Given the description of an element on the screen output the (x, y) to click on. 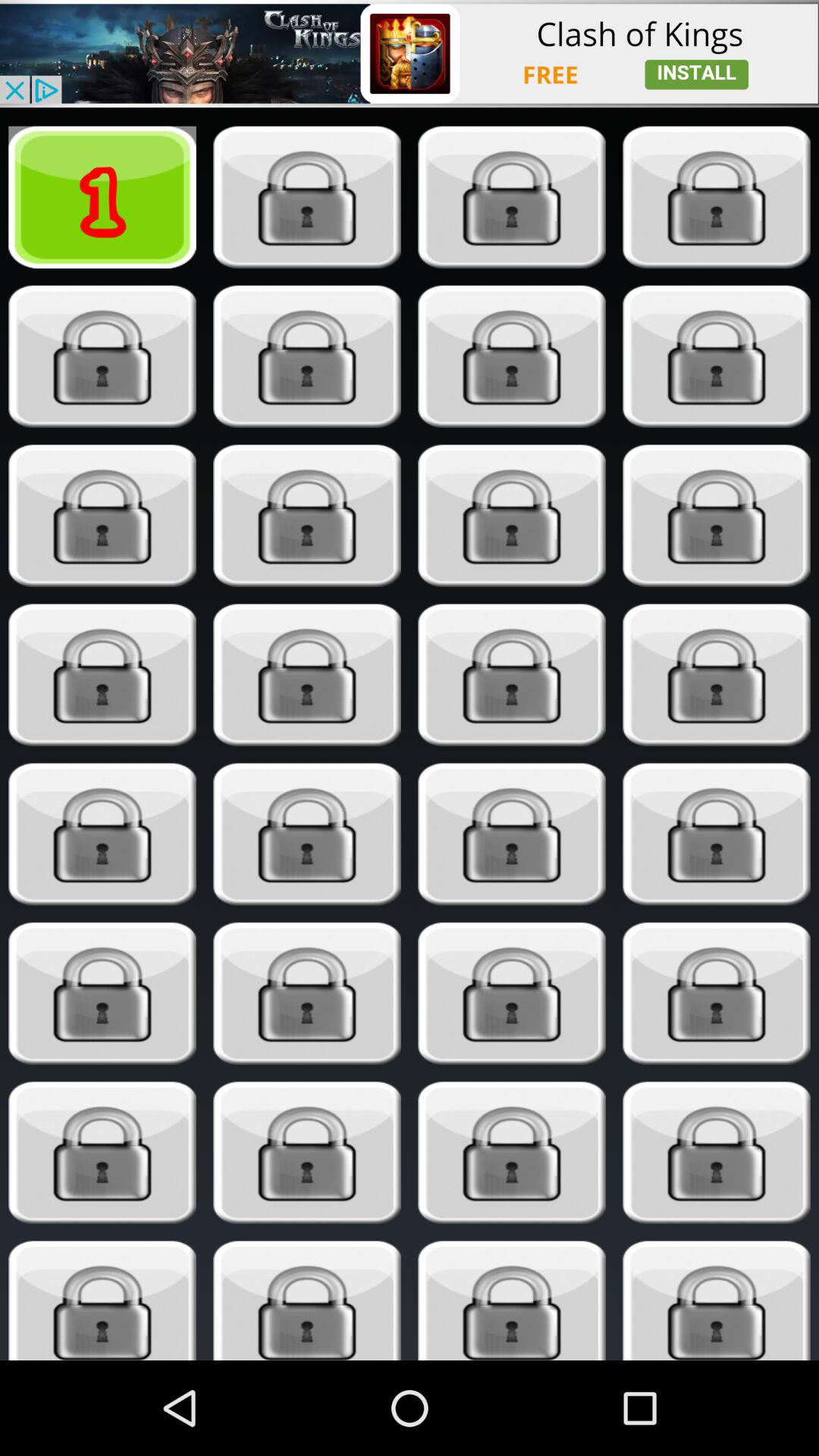
click to select (716, 356)
